Given the description of an element on the screen output the (x, y) to click on. 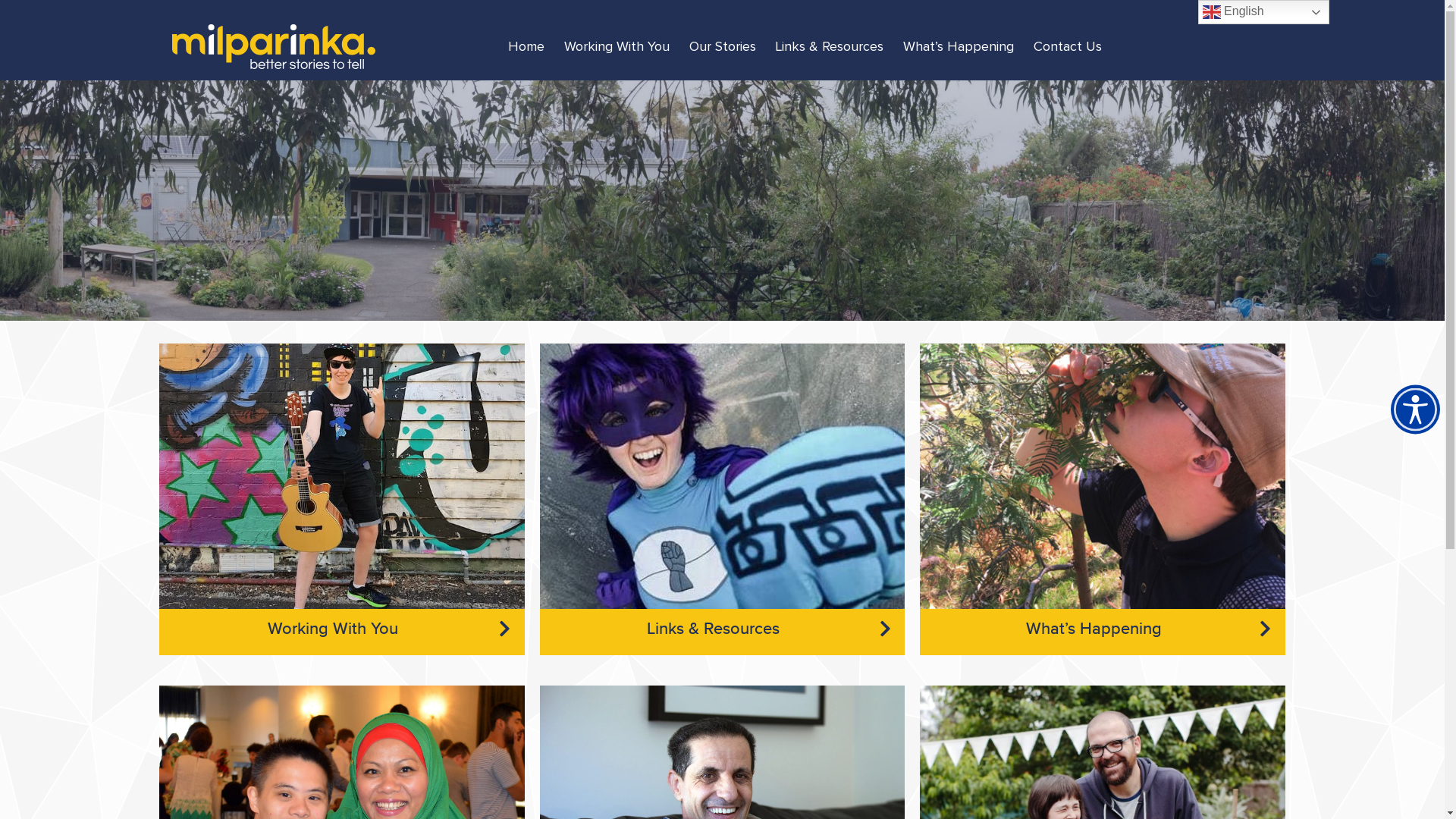
English Element type: text (1263, 12)
Working With You Element type: text (616, 46)
Working With You Element type: text (341, 636)
Contact Us Element type: text (1067, 46)
Home Element type: text (526, 46)
Our Stories Element type: text (722, 46)
Links & Resources Element type: text (829, 46)
Links & Resources Element type: text (722, 636)
